Given the description of an element on the screen output the (x, y) to click on. 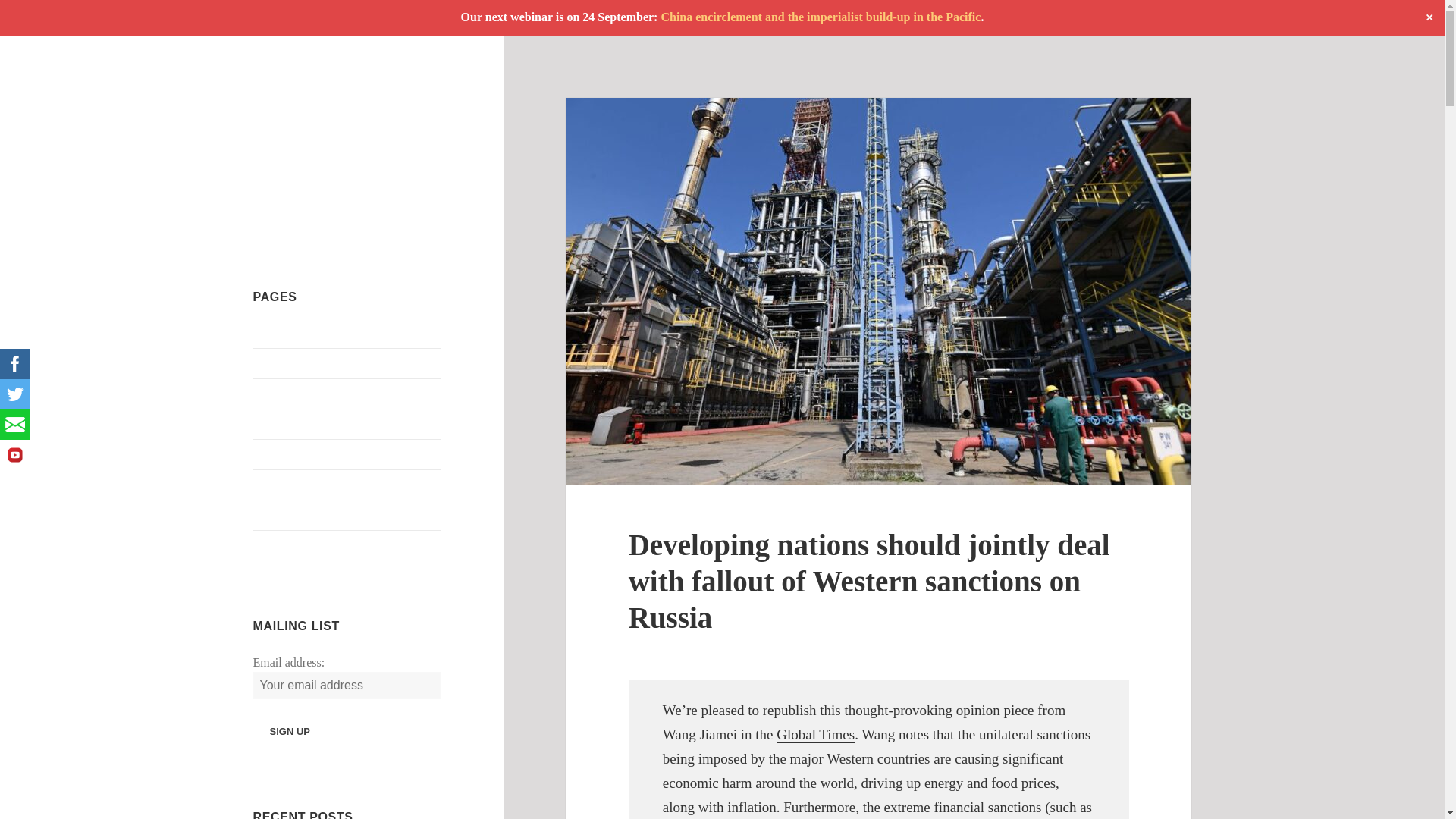
Who we are (282, 545)
Analysis (274, 363)
Friends of Socialist China (326, 121)
About Friends of Socialist China (333, 332)
Sign up (289, 731)
Register as a supporter (308, 514)
Newsletter (279, 484)
Events (269, 423)
Sign up (289, 731)
Contact (272, 393)
Latest posts (282, 454)
